Given the description of an element on the screen output the (x, y) to click on. 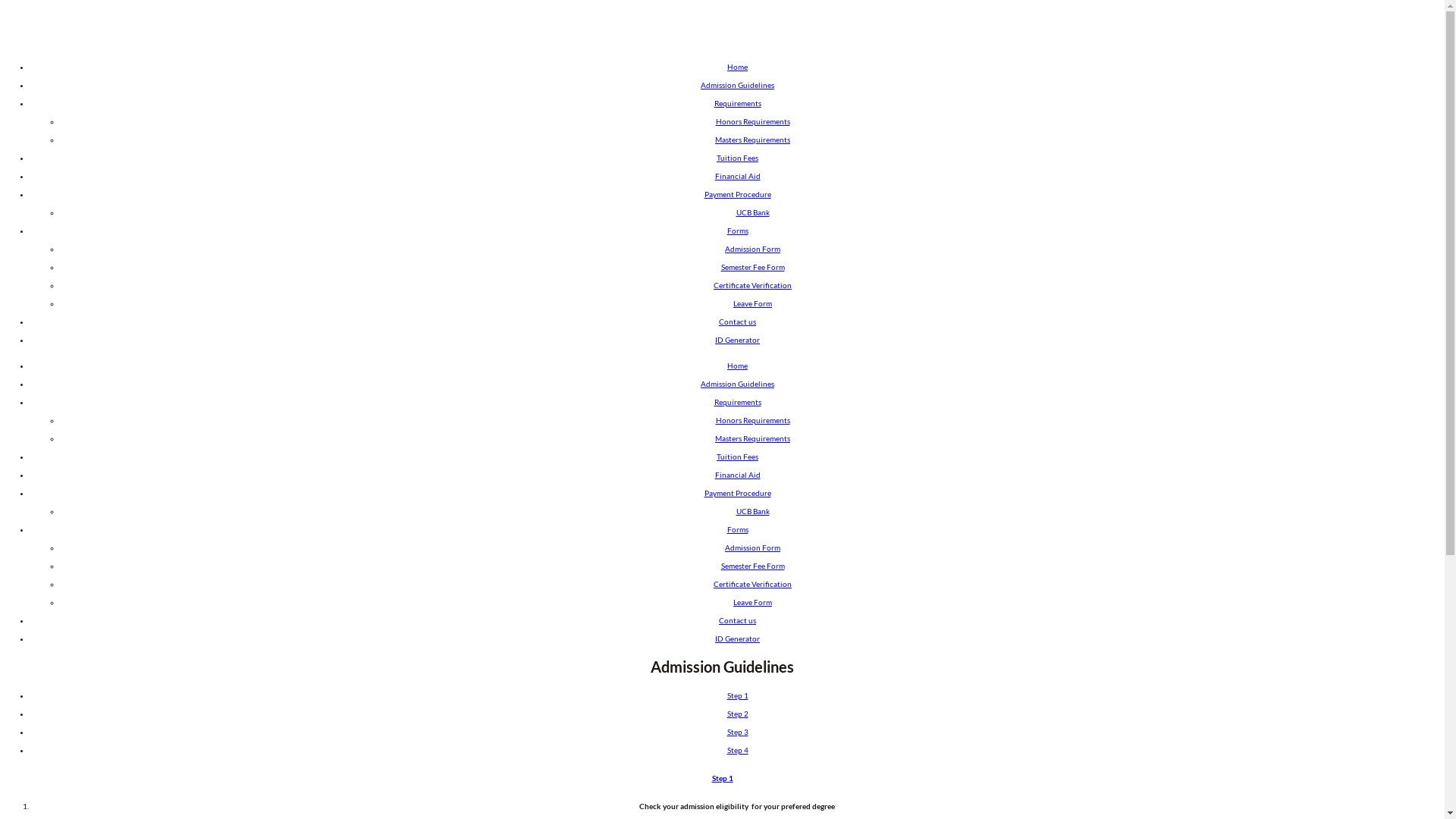
ID Generator Element type: text (737, 339)
Step 3 Element type: text (736, 731)
Forms Element type: text (736, 528)
Financial Aid Element type: text (736, 474)
Leave Form Element type: text (752, 302)
Step 1 Element type: text (736, 694)
Financial Aid Element type: text (736, 175)
Admission Guidelines Element type: text (737, 383)
Semester Fee Form Element type: text (752, 565)
Tuition Fees Element type: text (737, 456)
Honors Requirements Element type: text (752, 120)
Step 1 Element type: text (721, 777)
Contact us Element type: text (737, 619)
ID Generator Element type: text (737, 638)
Step 4 Element type: text (736, 749)
Step 2 Element type: text (736, 713)
UCB Bank Element type: text (751, 510)
Requirements Element type: text (737, 102)
Semester Fee Form Element type: text (752, 266)
Admission Guidelines Element type: text (737, 84)
Certificate Verification Element type: text (752, 583)
UCB Bank Element type: text (751, 211)
Leave Form Element type: text (752, 601)
Forms Element type: text (736, 230)
Honors Requirements Element type: text (752, 419)
Payment Procedure Element type: text (736, 193)
Requirements Element type: text (737, 401)
Tuition Fees Element type: text (737, 157)
Home Element type: text (737, 66)
Admission Form Element type: text (752, 248)
Admission Form Element type: text (752, 547)
Payment Procedure Element type: text (736, 492)
Certificate Verification Element type: text (752, 284)
Home Element type: text (737, 365)
Contact us Element type: text (737, 321)
Masters Requirements Element type: text (752, 139)
Masters Requirements Element type: text (752, 437)
